Given the description of an element on the screen output the (x, y) to click on. 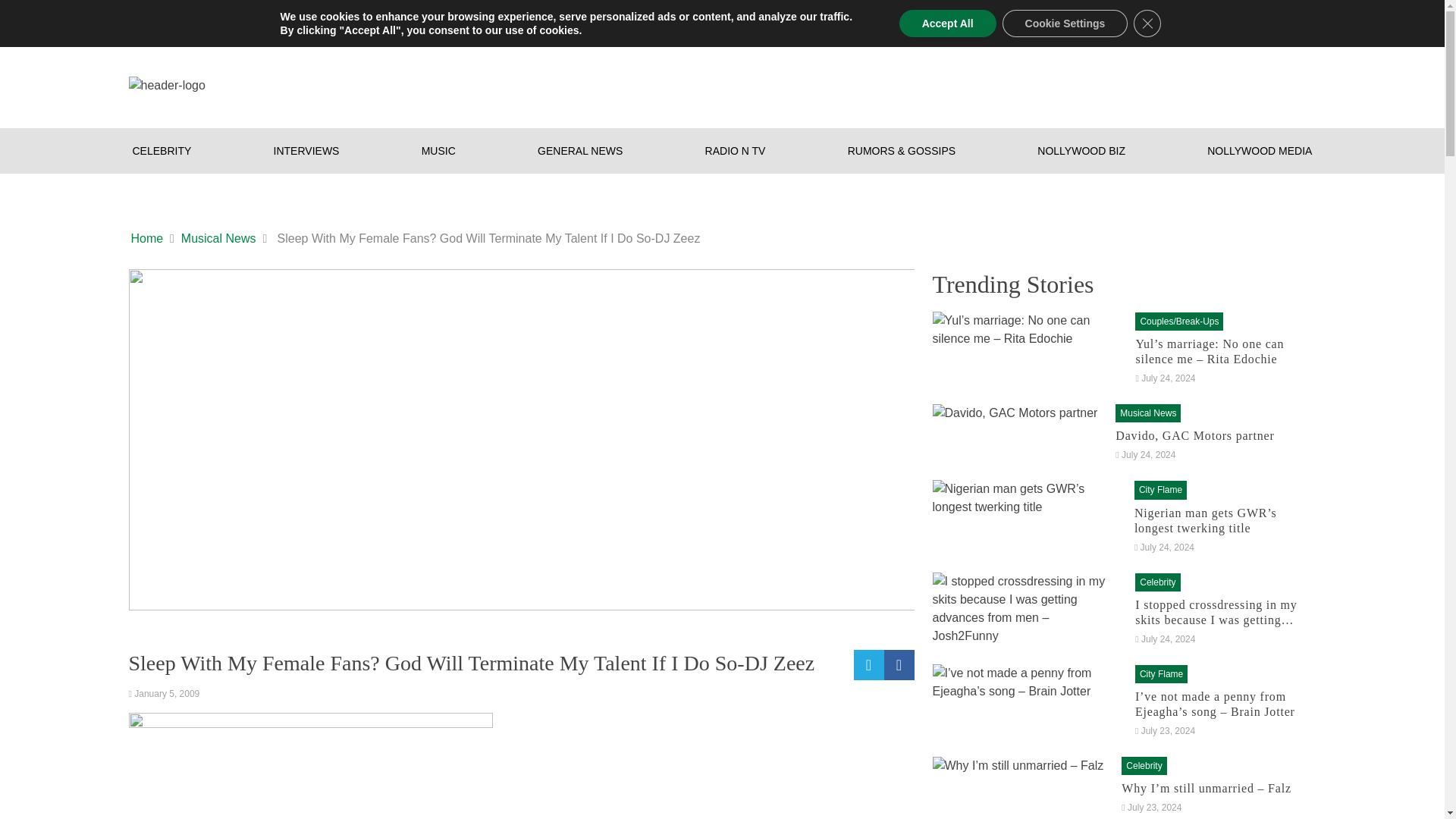
Google plus (1185, 19)
NOLLYWOOD AT LARGE (529, 19)
NOLLYWOOD BIZ (1081, 150)
INTERVIEWS (306, 150)
Search (1119, 18)
ABOUT US (241, 19)
NOLLYWOOD MEDIA (1260, 150)
NOLLYWOOD AFFAIRS (367, 19)
Home (147, 239)
instagram (1246, 19)
CELEBRITY (162, 150)
Twitter (1276, 19)
Facebook (1216, 19)
RADIO N TV (735, 150)
MUSIC (438, 150)
